Given the description of an element on the screen output the (x, y) to click on. 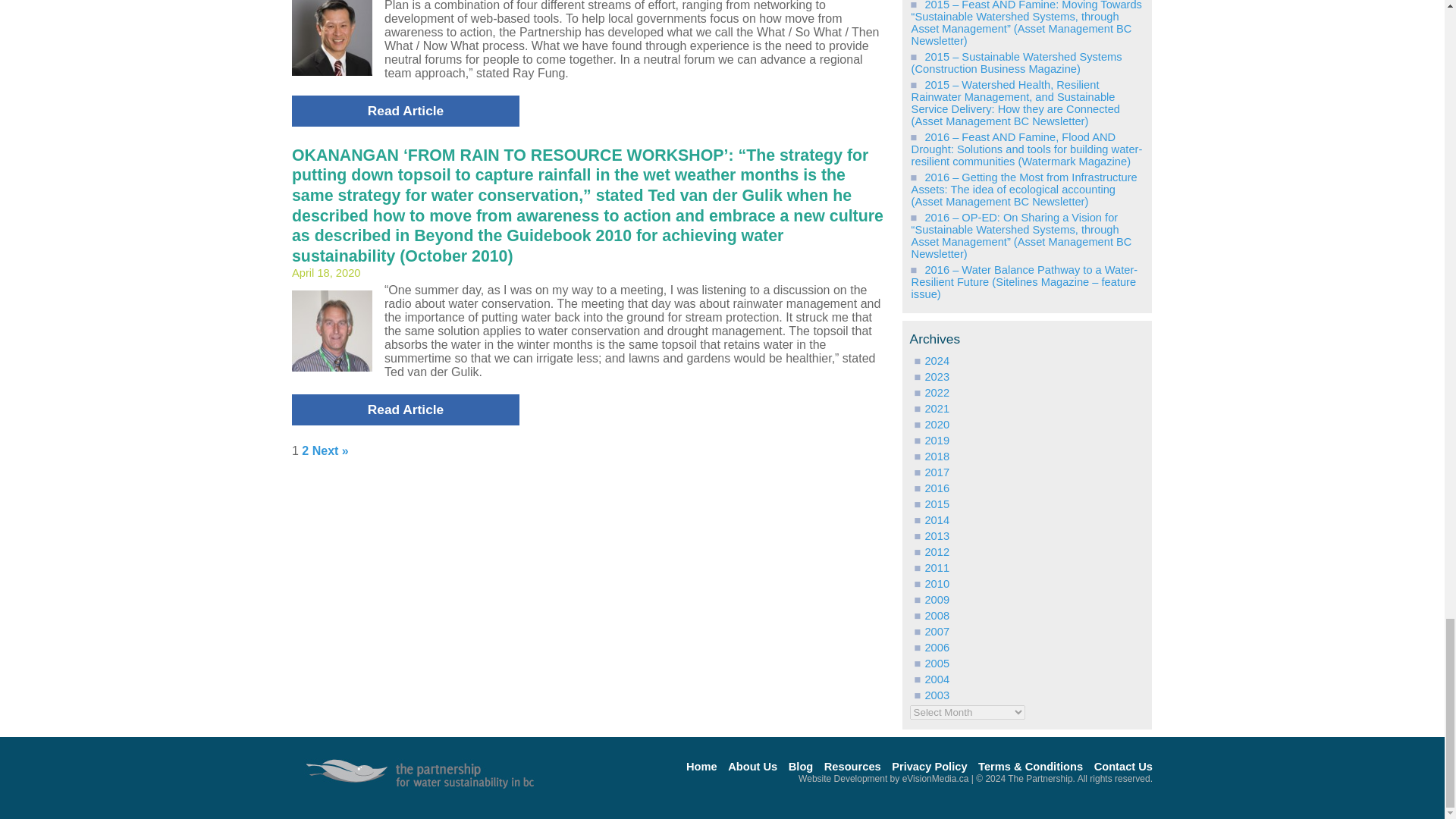
Read Article (405, 110)
Read Article (405, 409)
